Given the description of an element on the screen output the (x, y) to click on. 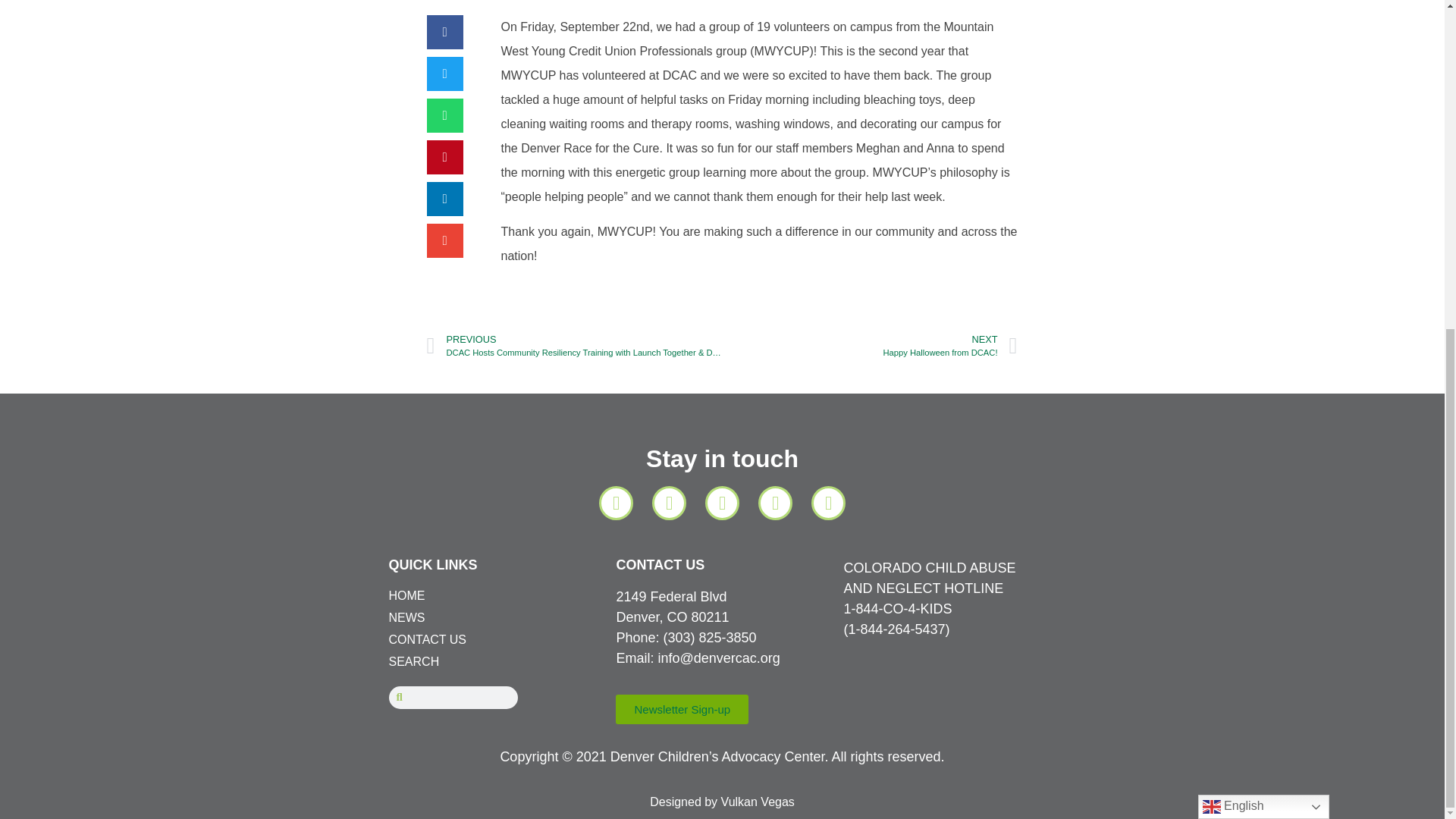
Vulkan Vegas (757, 801)
HOME (869, 346)
Newsletter Sign-up (493, 596)
NEWS (681, 708)
CONTACT US (493, 618)
CONTACT US (493, 639)
English (659, 564)
